Given the description of an element on the screen output the (x, y) to click on. 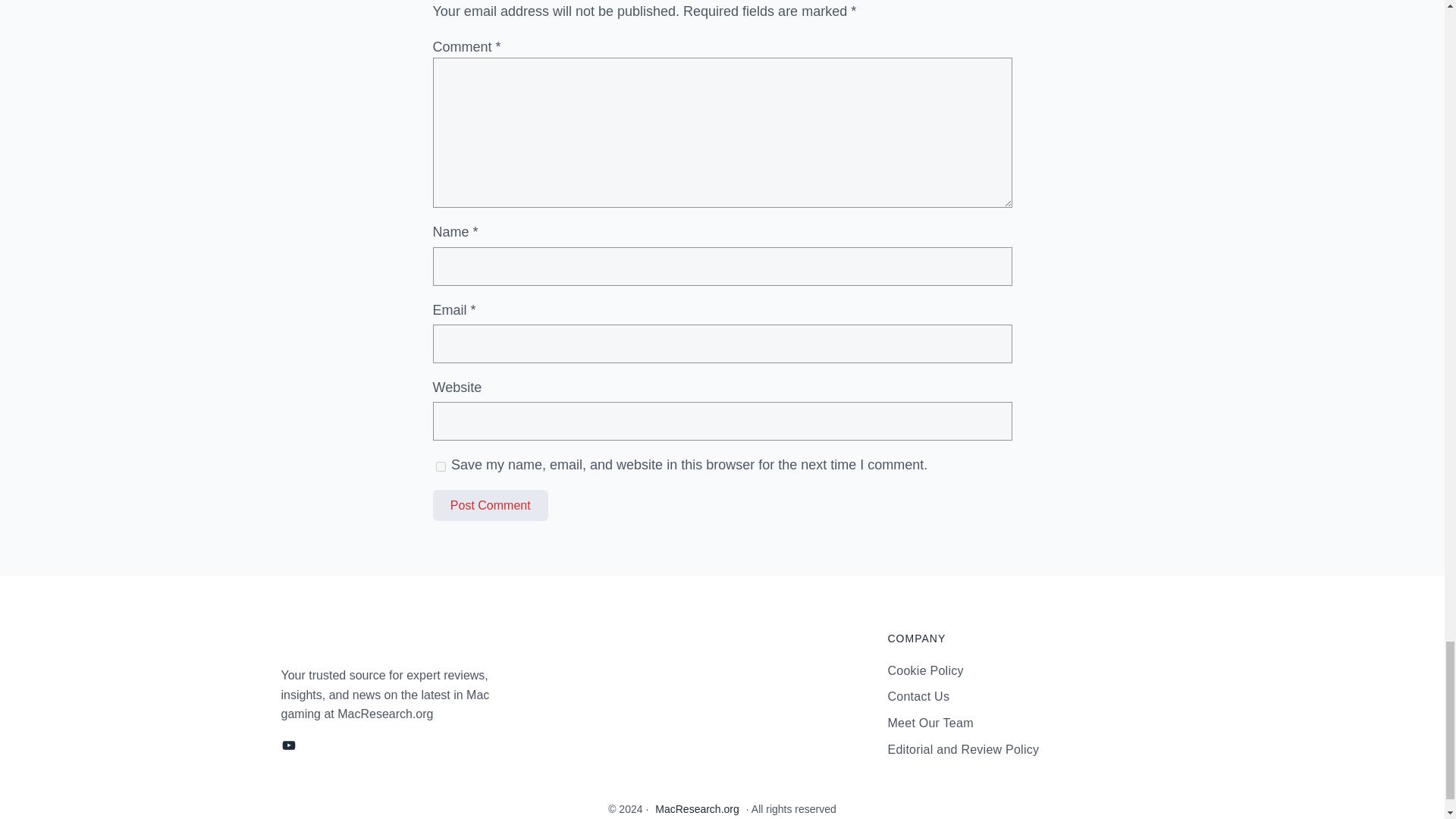
Post Comment (489, 504)
yes (440, 467)
